Given the description of an element on the screen output the (x, y) to click on. 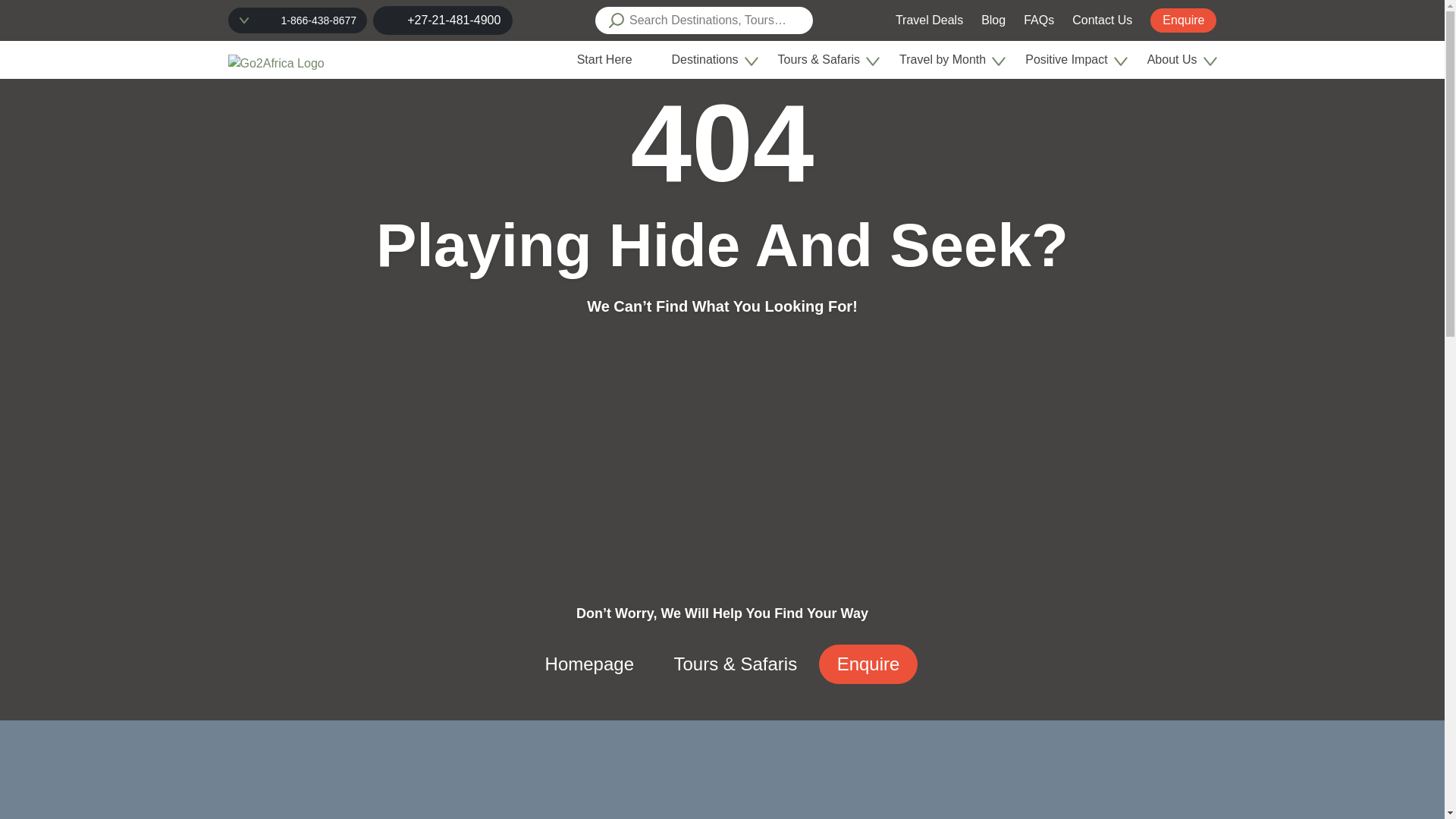
Destinations (710, 59)
Enquire (1182, 20)
FAQs (1038, 20)
Start Here (603, 59)
1-866-438-8677 (296, 20)
Contact Us (1101, 20)
Blog (993, 20)
1-866-438-8677 (318, 20)
Travel Deals (928, 20)
Start Here (610, 59)
